Given the description of an element on the screen output the (x, y) to click on. 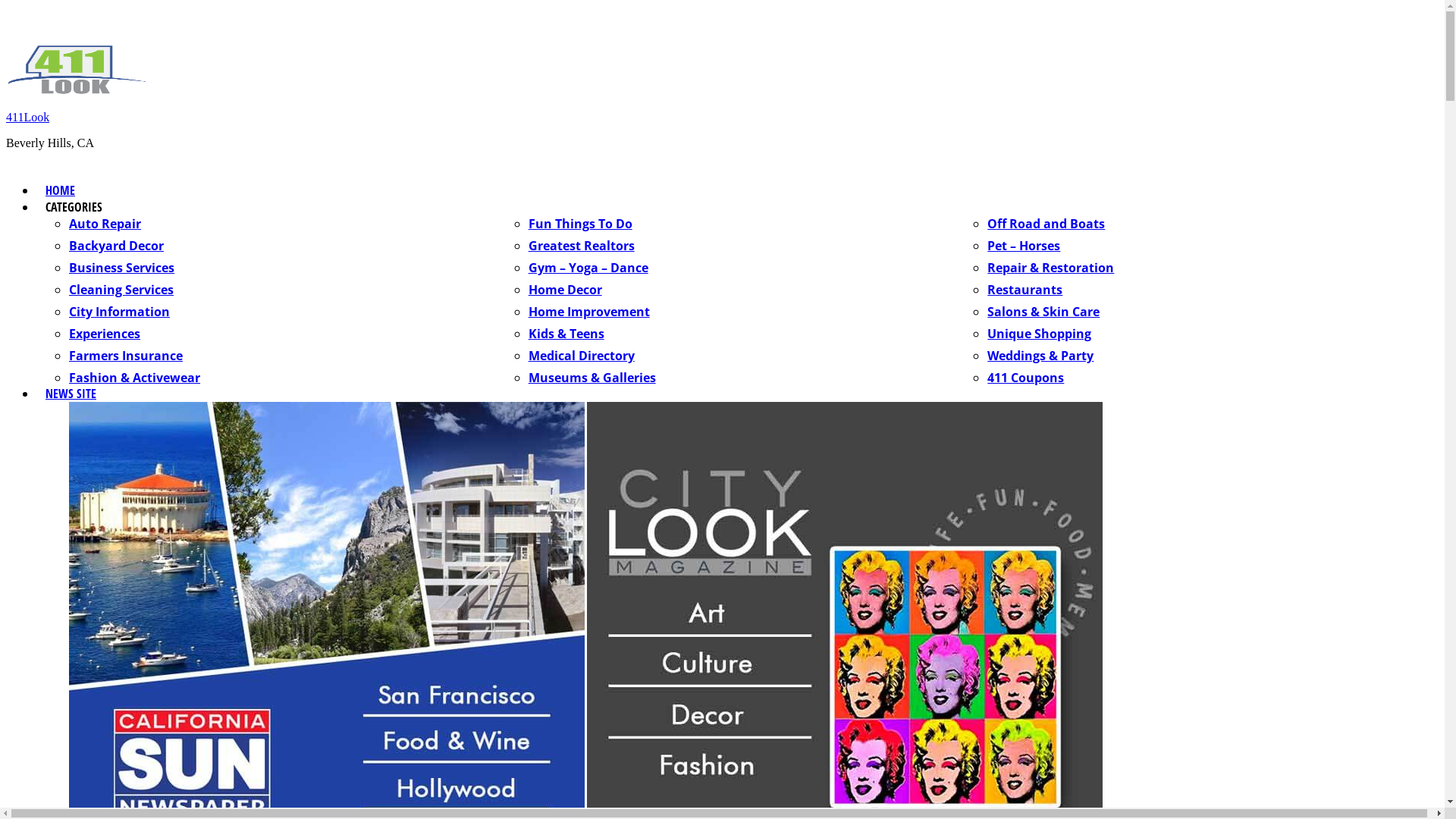
Skip to content Element type: text (5, 5)
Repair & Restoration Element type: text (1212, 267)
Weddings & Party Element type: text (1212, 355)
HOME Element type: text (60, 190)
Experiences Element type: text (294, 333)
Salons & Skin Care Element type: text (1212, 311)
Cleaning Services Element type: text (294, 289)
Medical Directory Element type: text (753, 355)
CATEGORIES Element type: text (73, 206)
Home Improvement Element type: text (753, 311)
411Look Element type: text (27, 116)
411 Coupons Element type: text (1212, 377)
Unique Shopping Element type: text (1212, 333)
Backyard Decor Element type: text (294, 245)
Restaurants Element type: text (1212, 289)
Home Decor Element type: text (753, 289)
Fun Things To Do Element type: text (753, 223)
Off Road and Boats Element type: text (1212, 223)
Kids & Teens Element type: text (753, 333)
Farmers Insurance Element type: text (294, 355)
Auto Repair Element type: text (294, 223)
Fashion & Activewear Element type: text (294, 377)
Greatest Realtors Element type: text (753, 245)
Museums & Galleries Element type: text (753, 377)
City Information Element type: text (294, 311)
NEWS SITE Element type: text (70, 393)
Business Services Element type: text (294, 267)
